Given the description of an element on the screen output the (x, y) to click on. 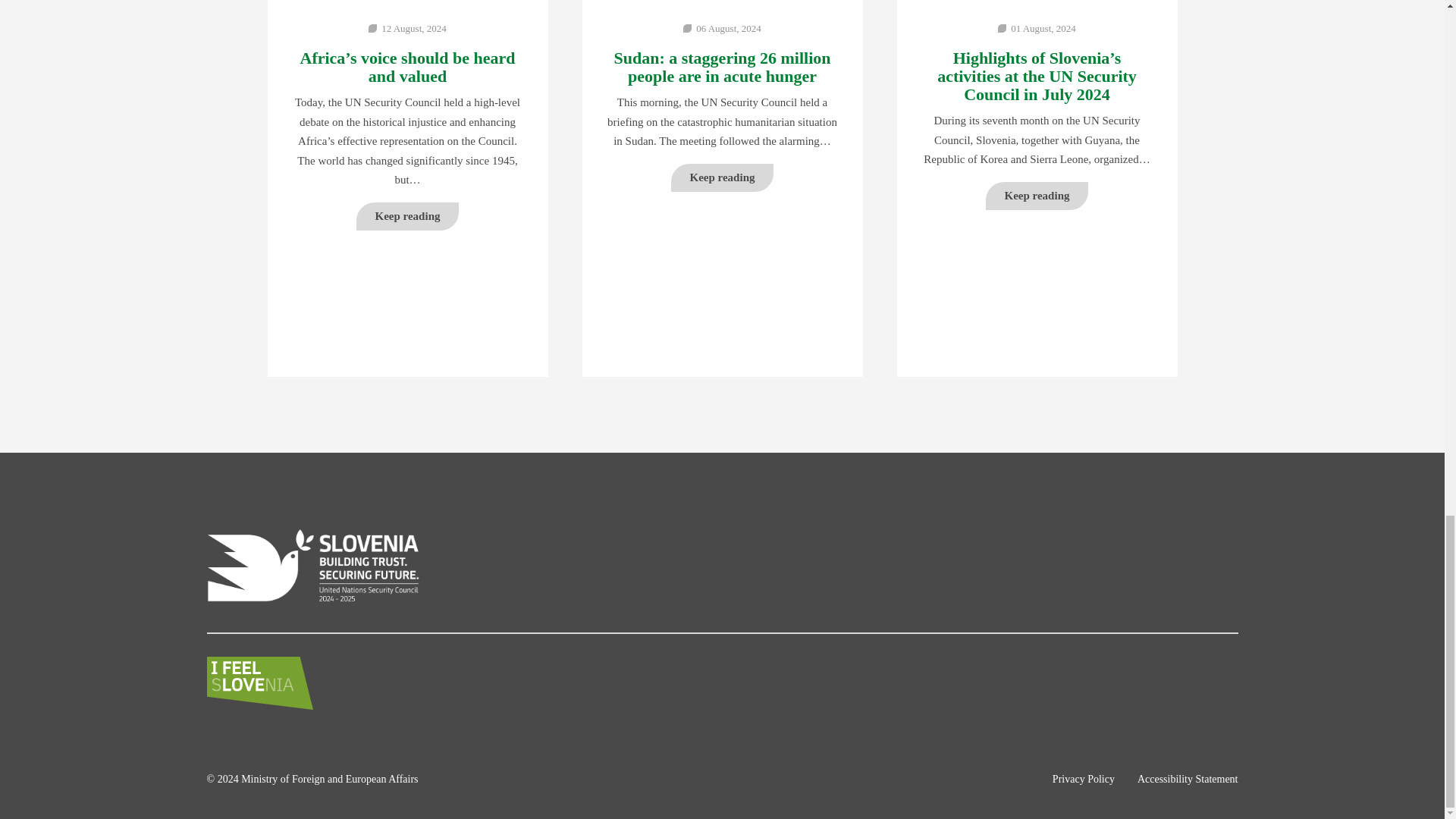
Keep reading (721, 177)
Accessibility Statement (1188, 778)
Privacy Policy (1083, 778)
Ministry of Foreign and European Affairs (329, 778)
Keep reading (1037, 195)
Keep reading (408, 216)
Sudan: a staggering 26 million people are in acute hunger (722, 67)
